Given the description of an element on the screen output the (x, y) to click on. 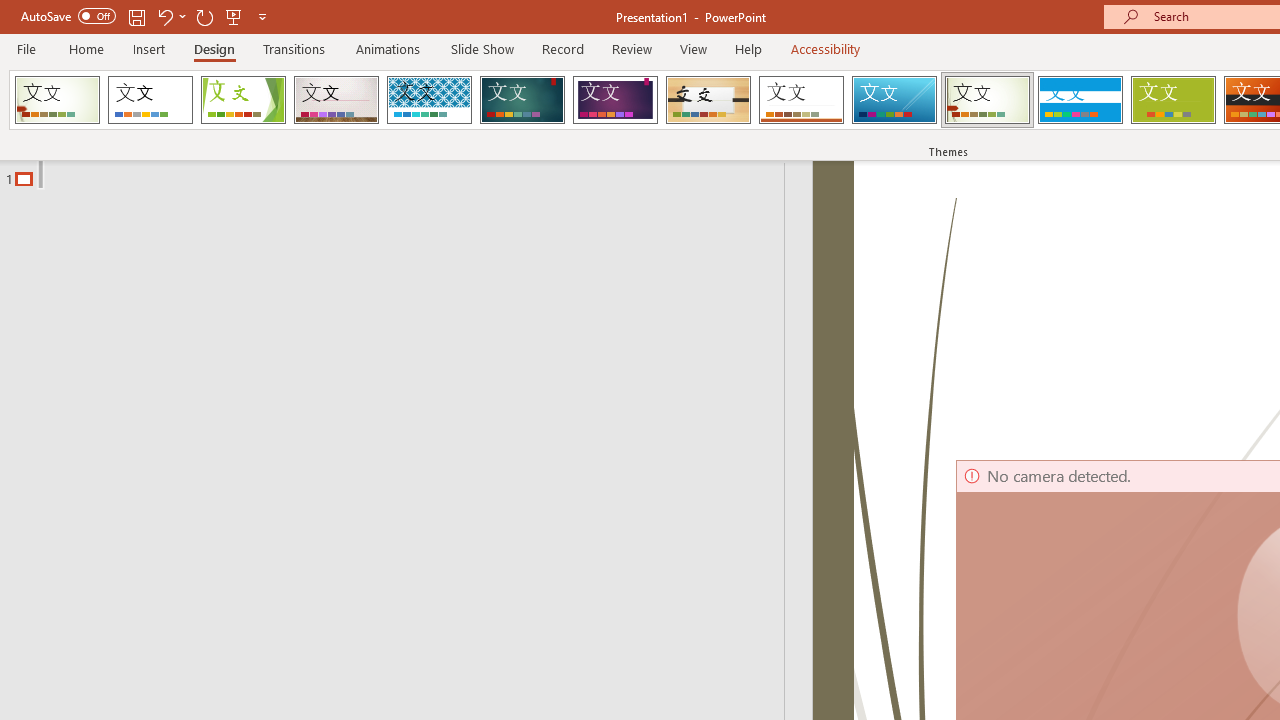
Slice (893, 100)
Office Theme (150, 100)
Facet (243, 100)
Organic (708, 100)
Integral (429, 100)
Wisp (987, 100)
